Given the description of an element on the screen output the (x, y) to click on. 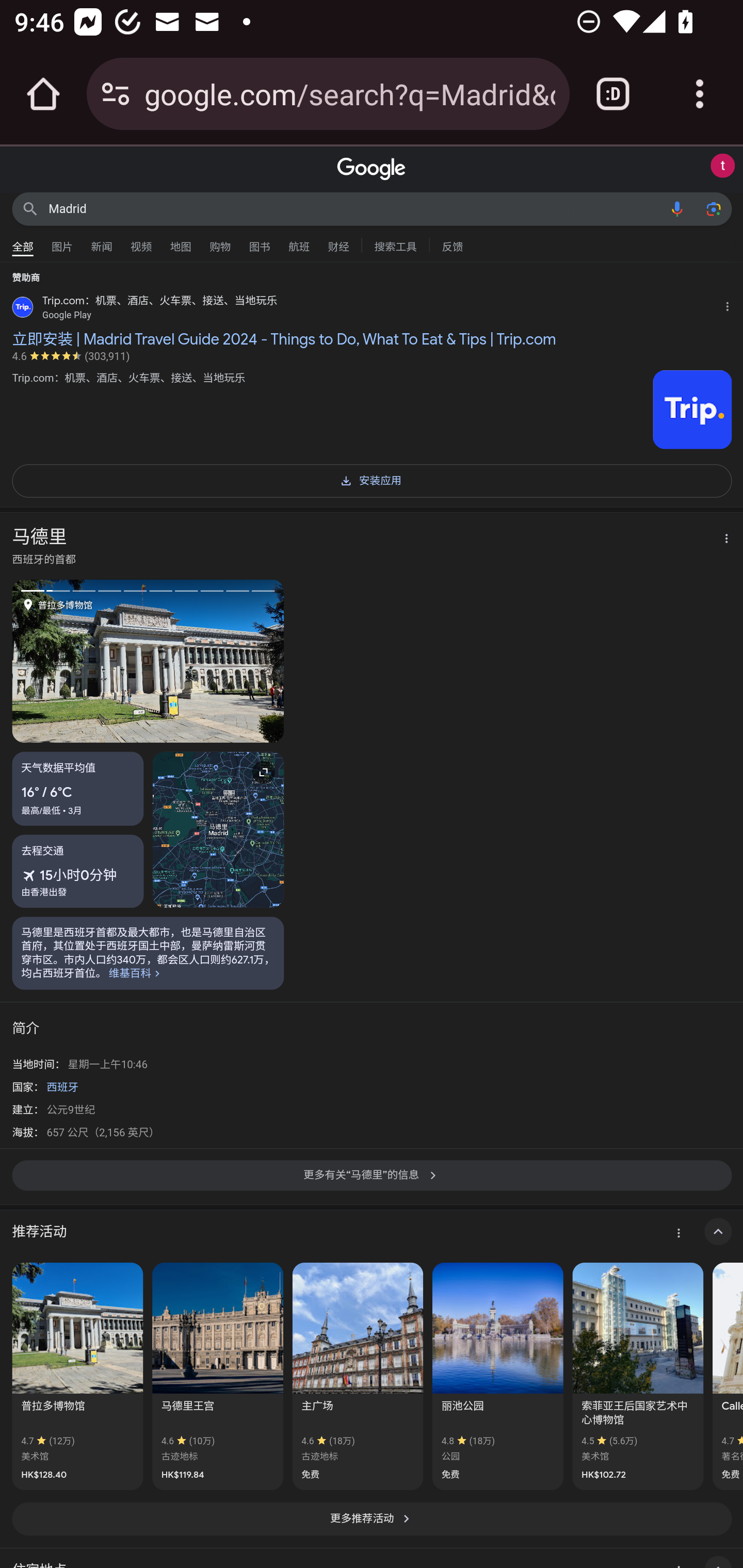
Open the home page (43, 93)
Connection is secure (115, 93)
Switch or close tabs (612, 93)
Customize and control Google Chrome (699, 93)
Google (371, 169)
Google 账号： test appium (testappium002@gmail.com) (722, 165)
Google 搜索 (29, 208)
使用拍照功能或照片进行搜索 (712, 208)
Madrid (353, 208)
图片 (62, 241)
新闻 (101, 241)
视频 (141, 241)
地图 (180, 241)
购物 (219, 241)
图书 (259, 241)
航班 (299, 241)
财经 (338, 241)
搜索工具 (395, 244)
反馈 (452, 244)
为什么会显示该广告？ (731, 303)
图片来自 google.com (691, 410)
安装应用 (371, 478)
更多选项 (720, 539)
上一张图片 (79, 660)
下一张图片 (215, 660)
天气数据平均值 16° / 6°C 最高/最低 • 3月 (77, 788)
展开地图 (217, 829)
去程交通 15小时 乘坐飞机 由香港出發 (77, 870)
%E9%A9%AC%E5%BE%B7%E9%87%8C (147, 952)
西班牙 (62, 1086)
更多有关“马德里”的信息 (371, 1181)
推荐活动 … 馬德里的推荐活动 (371, 1231)
普拉多博物馆 评分为 4.7 星（最高 5 星）， (12万) 美术馆 HK$128.40 (77, 1376)
马德里王宫 评分为 4.6 星（最高 5 星）， (10万) 古迹地标 HK$119.84 (217, 1376)
主广场 评分为 4.6 星（最高 5 星）， (18万) 古迹地标 免费 (357, 1376)
丽池公园 评分为 4.8 星（最高 5 星）， (18万) 公园 免费 (497, 1376)
更多推荐活动 (371, 1518)
